Given the description of an element on the screen output the (x, y) to click on. 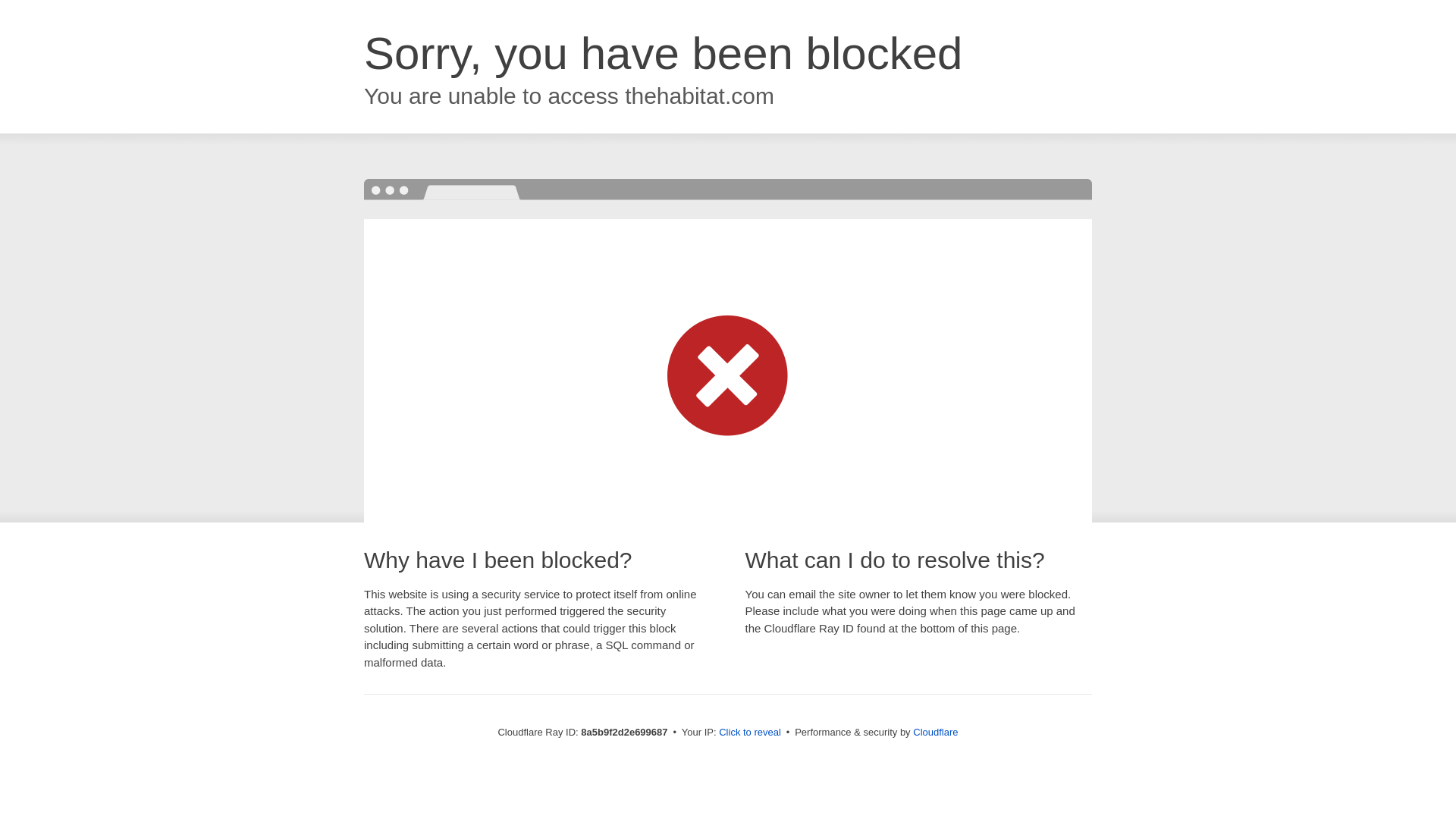
Click to reveal (749, 732)
Cloudflare (935, 731)
